Given the description of an element on the screen output the (x, y) to click on. 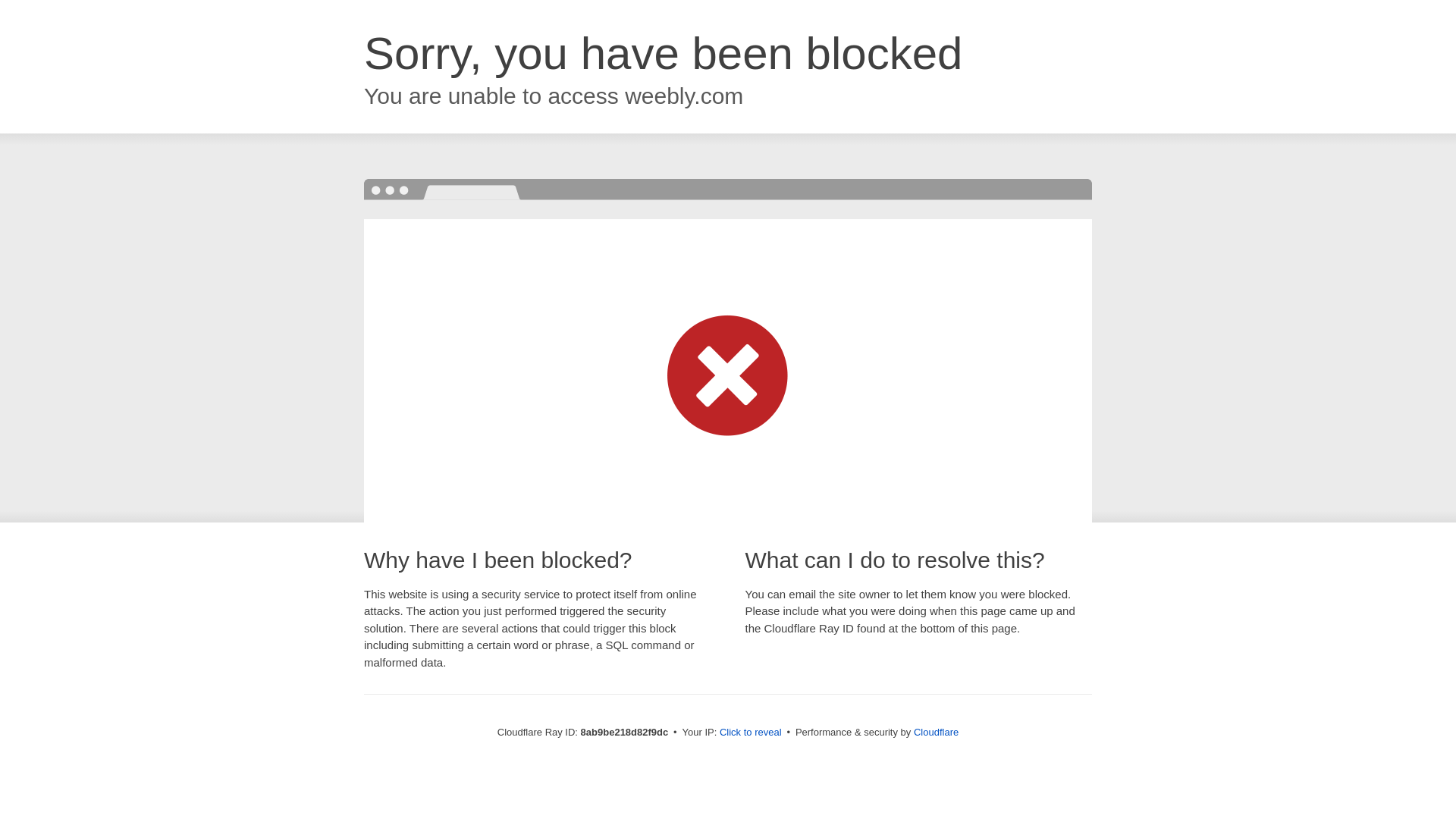
Cloudflare (936, 731)
Click to reveal (750, 732)
